Given the description of an element on the screen output the (x, y) to click on. 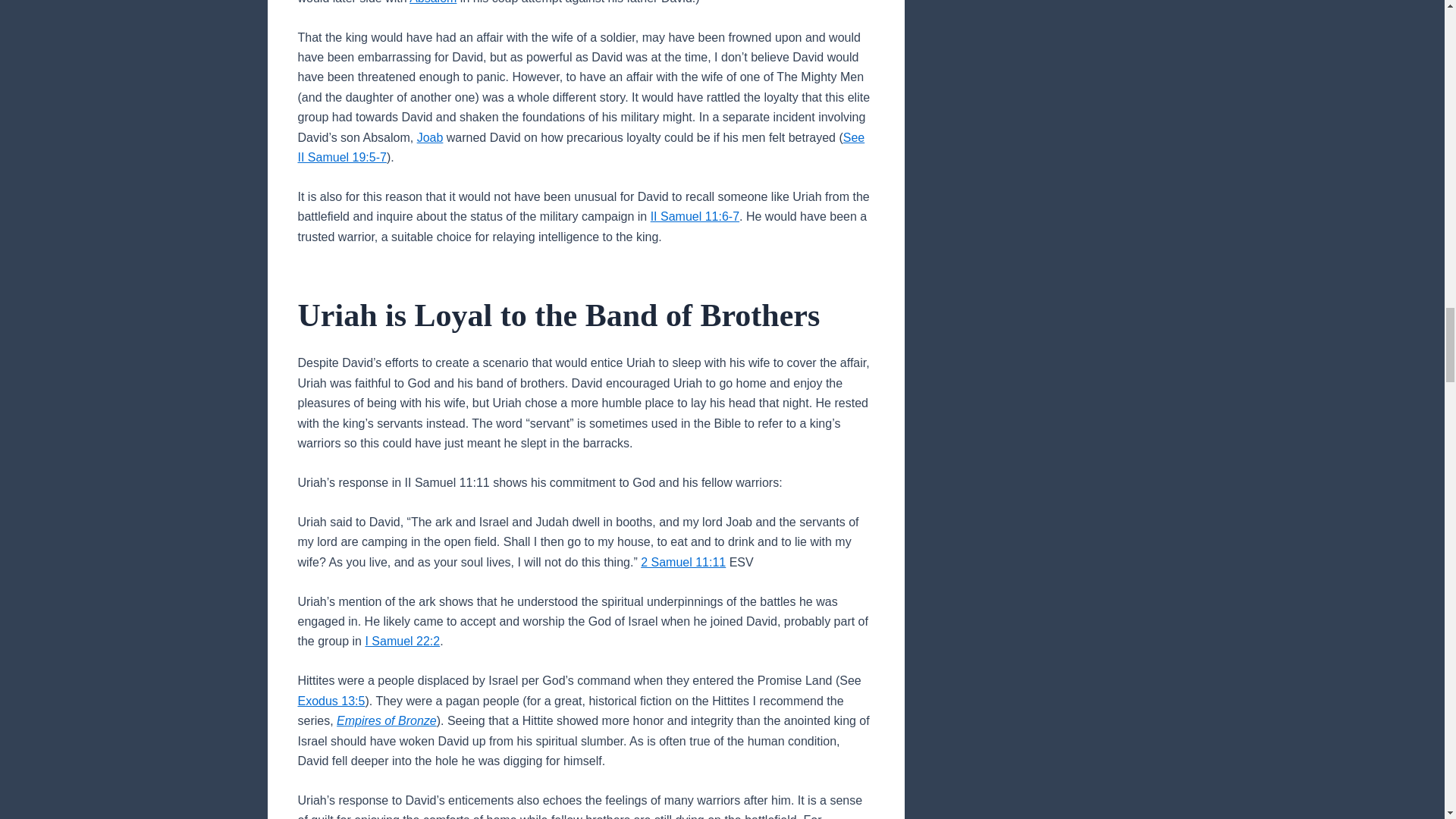
Exodus 13:5 (331, 700)
2 Samuel 11:11 (682, 562)
Joab (430, 137)
II Samuel 11:6-7 (694, 215)
I Samuel 22:2 (402, 640)
Absalom (433, 2)
See II Samuel 19:5-7 (580, 147)
